Given the description of an element on the screen output the (x, y) to click on. 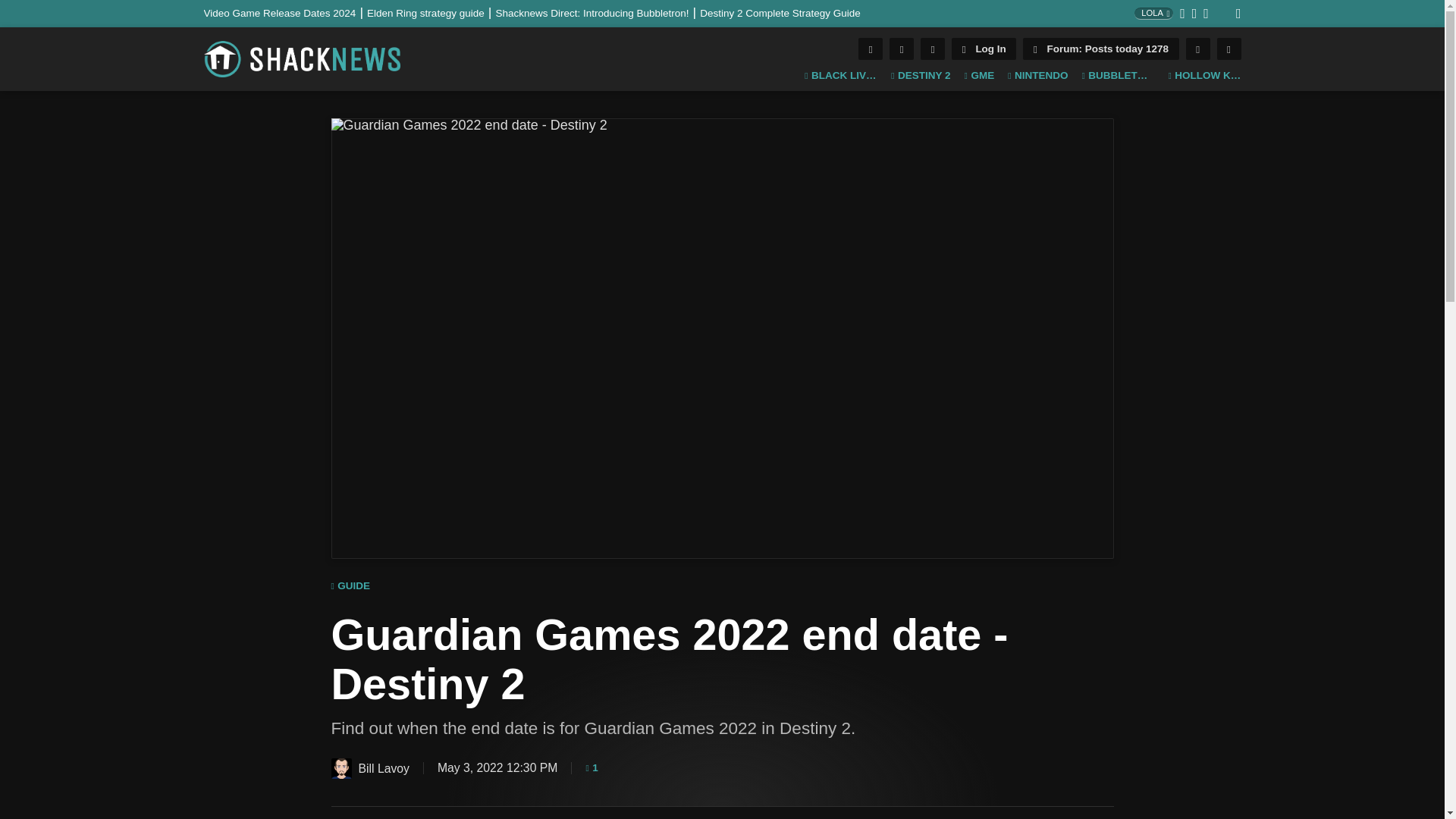
Video Game Release Dates 2024 (284, 11)
BUBBLETRON (1117, 75)
Bill Lavoy (340, 768)
NINTENDO (1037, 75)
HOLLOW KNIGHT: SILKSONG (1203, 75)
GUIDE (349, 586)
DESTINY 2 (920, 75)
Elden Ring strategy guide (430, 11)
Shacknews Direct: Introducing Bubbletron! (597, 11)
GME (978, 75)
Destiny 2 Complete Strategy Guide (780, 11)
BLACK LIVES MATTER (841, 75)
